Given the description of an element on the screen output the (x, y) to click on. 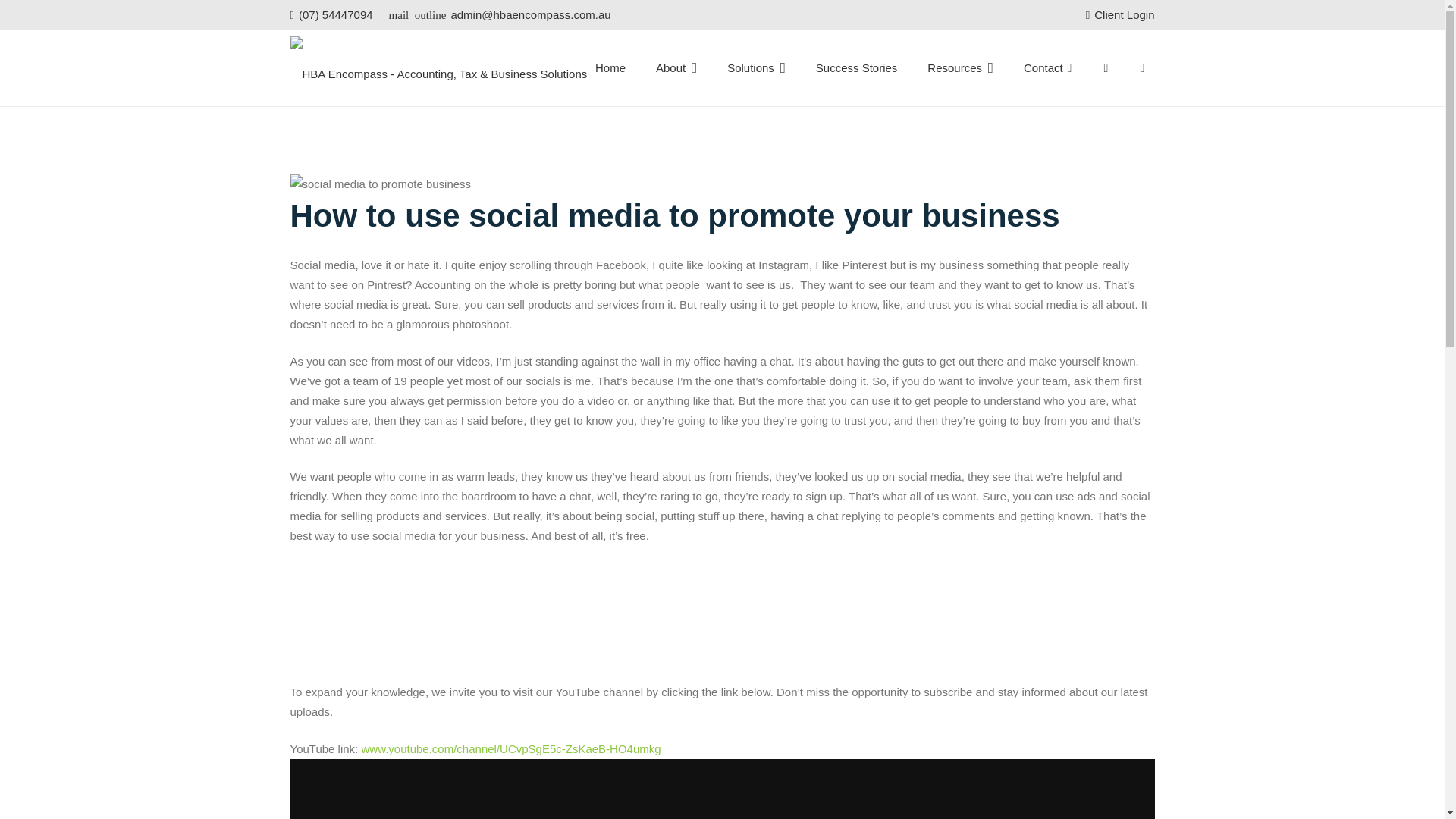
Contact (1043, 68)
Success Stories (856, 68)
Youtube video player (721, 789)
Client Login (1120, 14)
Facebook (1069, 68)
About (675, 68)
Resources (960, 68)
YouTube (1105, 68)
Solutions (755, 68)
LinkedIn (1141, 68)
